Given the description of an element on the screen output the (x, y) to click on. 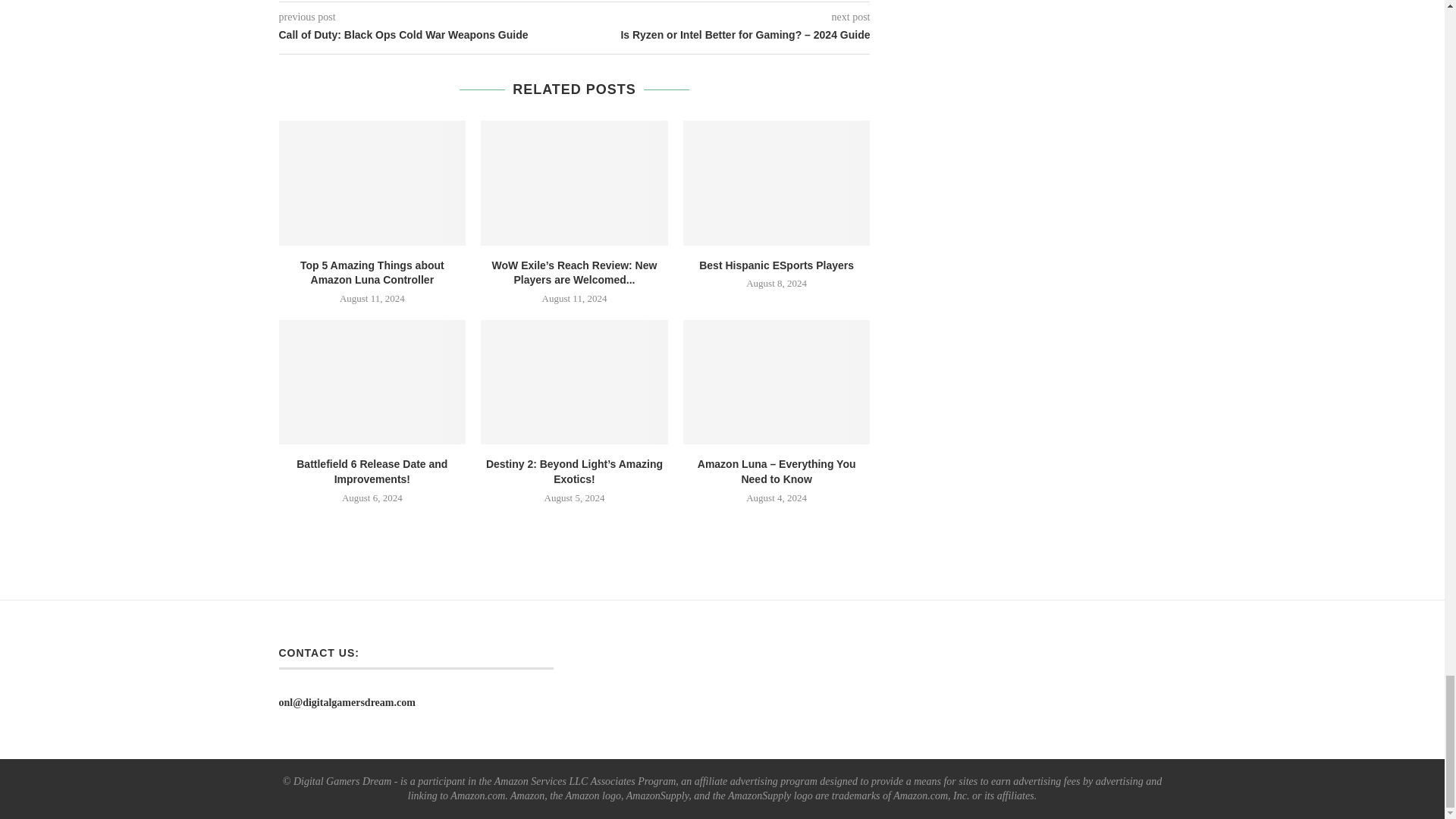
Battlefield 6 Release Date and Improvements! (372, 382)
Top 5 Amazing Things about Amazon Luna Controller (372, 182)
Best Hispanic ESports Players (776, 182)
